Given the description of an element on the screen output the (x, y) to click on. 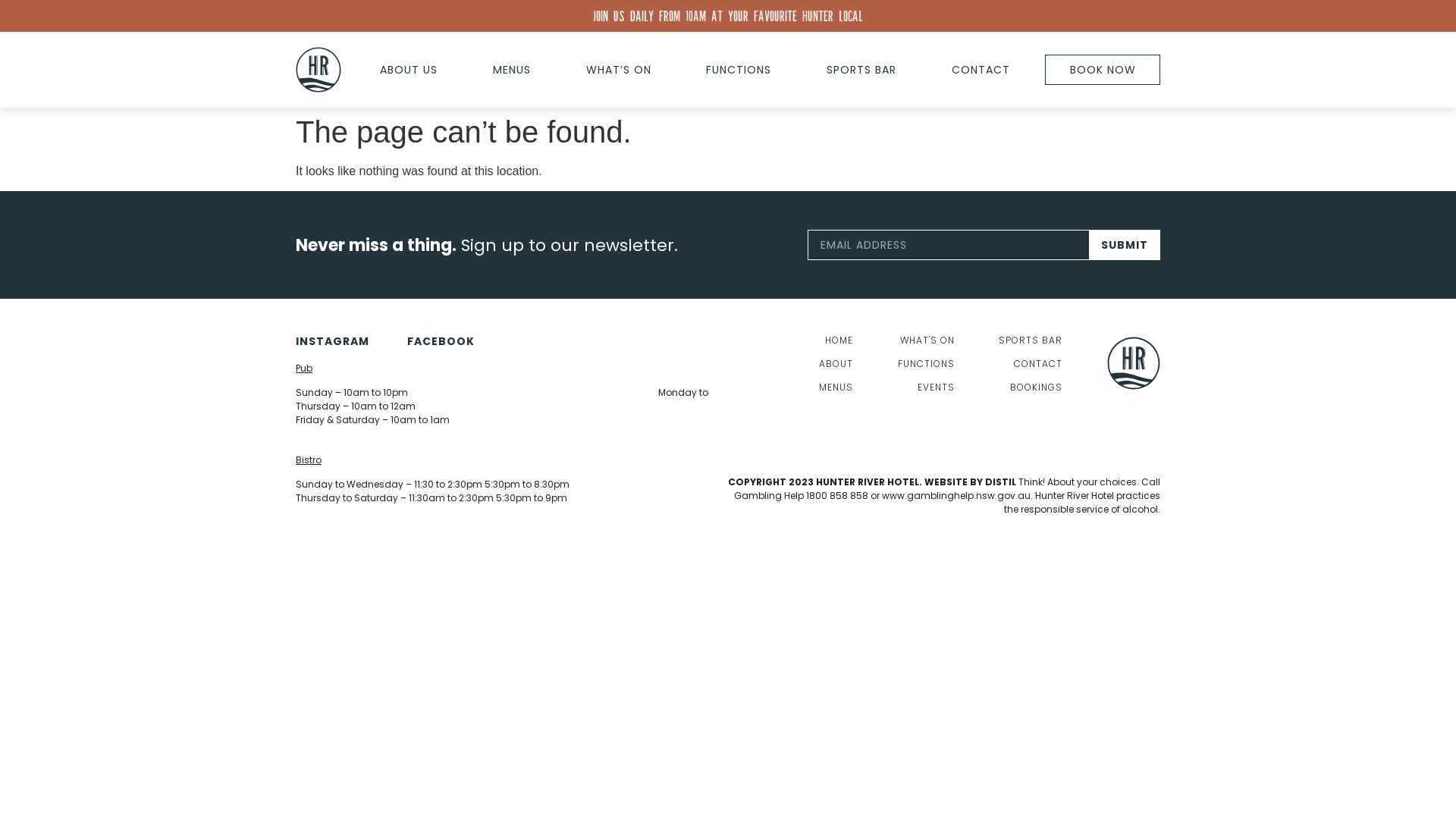
MENUS Element type: text (836, 387)
WHAT'S ON Element type: text (925, 340)
MENUS Element type: text (512, 69)
EVENTS Element type: text (925, 387)
SPORTS BAR Element type: text (1030, 340)
FUNCTIONS Element type: text (925, 364)
INSTAGRAM Element type: text (332, 341)
SPORTS BAR Element type: text (861, 69)
WEBSITE BY DISTIL Element type: text (970, 481)
FUNCTIONS Element type: text (738, 69)
BOOK NOW Element type: text (1102, 69)
BOOKINGS Element type: text (1030, 387)
HOME Element type: text (836, 340)
CONTACT Element type: text (980, 69)
FACEBOOK Element type: text (440, 341)
ABOUT Element type: text (836, 364)
CONTACT Element type: text (1030, 364)
www.gamblinghelp.nsw.gov.au Element type: text (955, 495)
ABOUT US Element type: text (408, 69)
SUBMIT Element type: text (1124, 244)
